Given the description of an element on the screen output the (x, y) to click on. 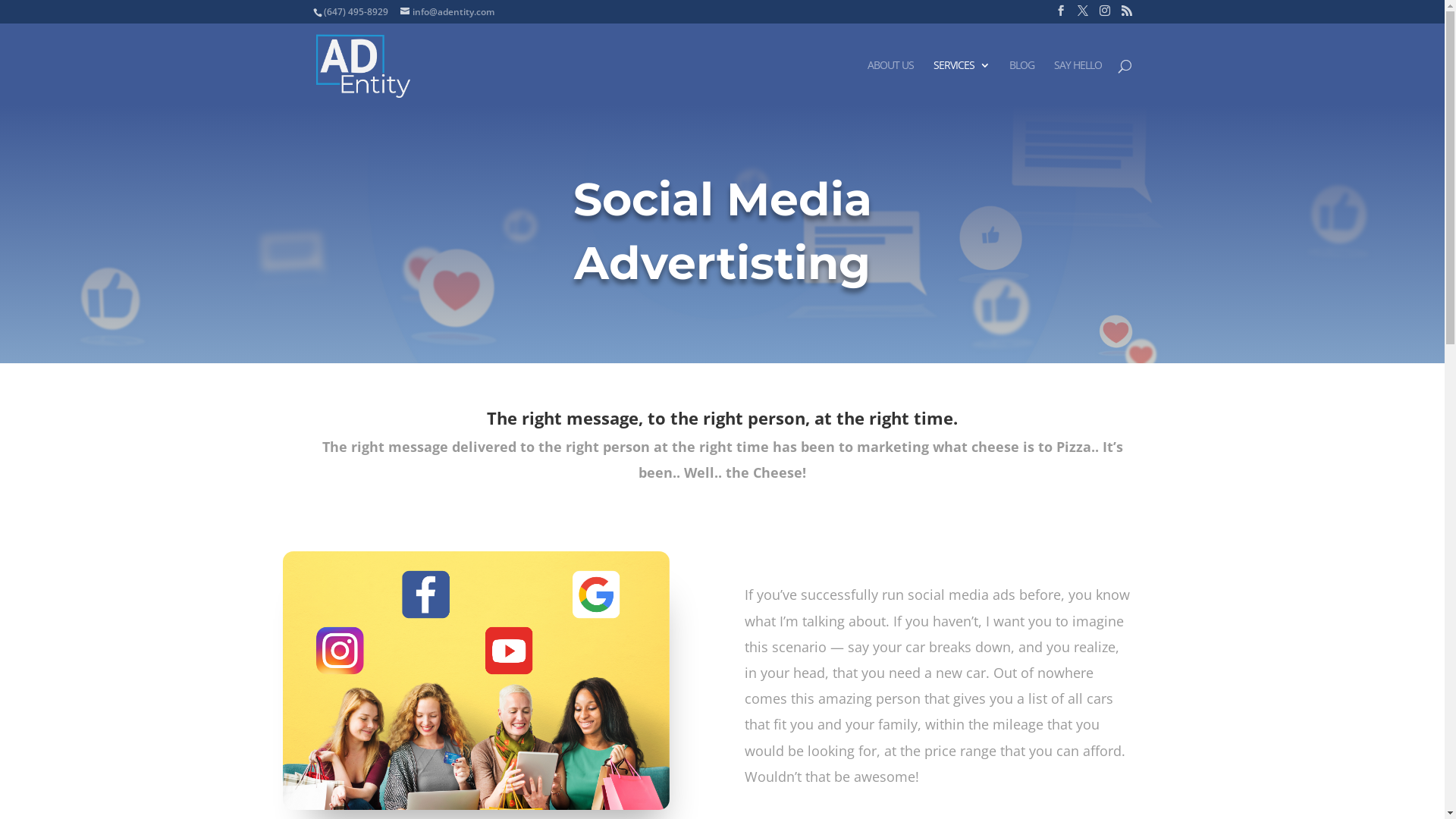
ADE - Website Element type: hover (475, 680)
ABOUT US Element type: text (890, 82)
info@adentity.com Element type: text (447, 11)
SAY HELLO Element type: text (1077, 82)
SERVICES Element type: text (960, 82)
BLOG Element type: text (1020, 82)
